Given the description of an element on the screen output the (x, y) to click on. 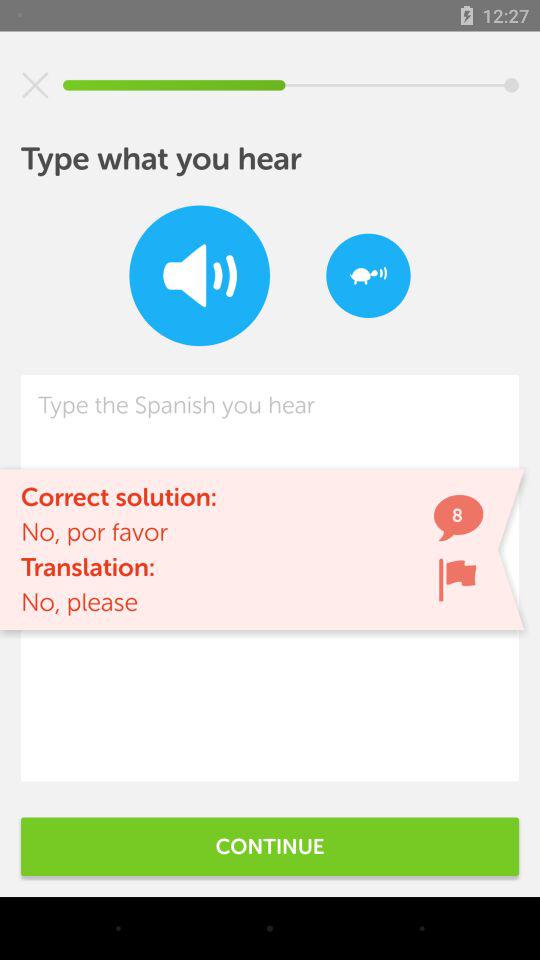
select icon at the top left corner (35, 85)
